Given the description of an element on the screen output the (x, y) to click on. 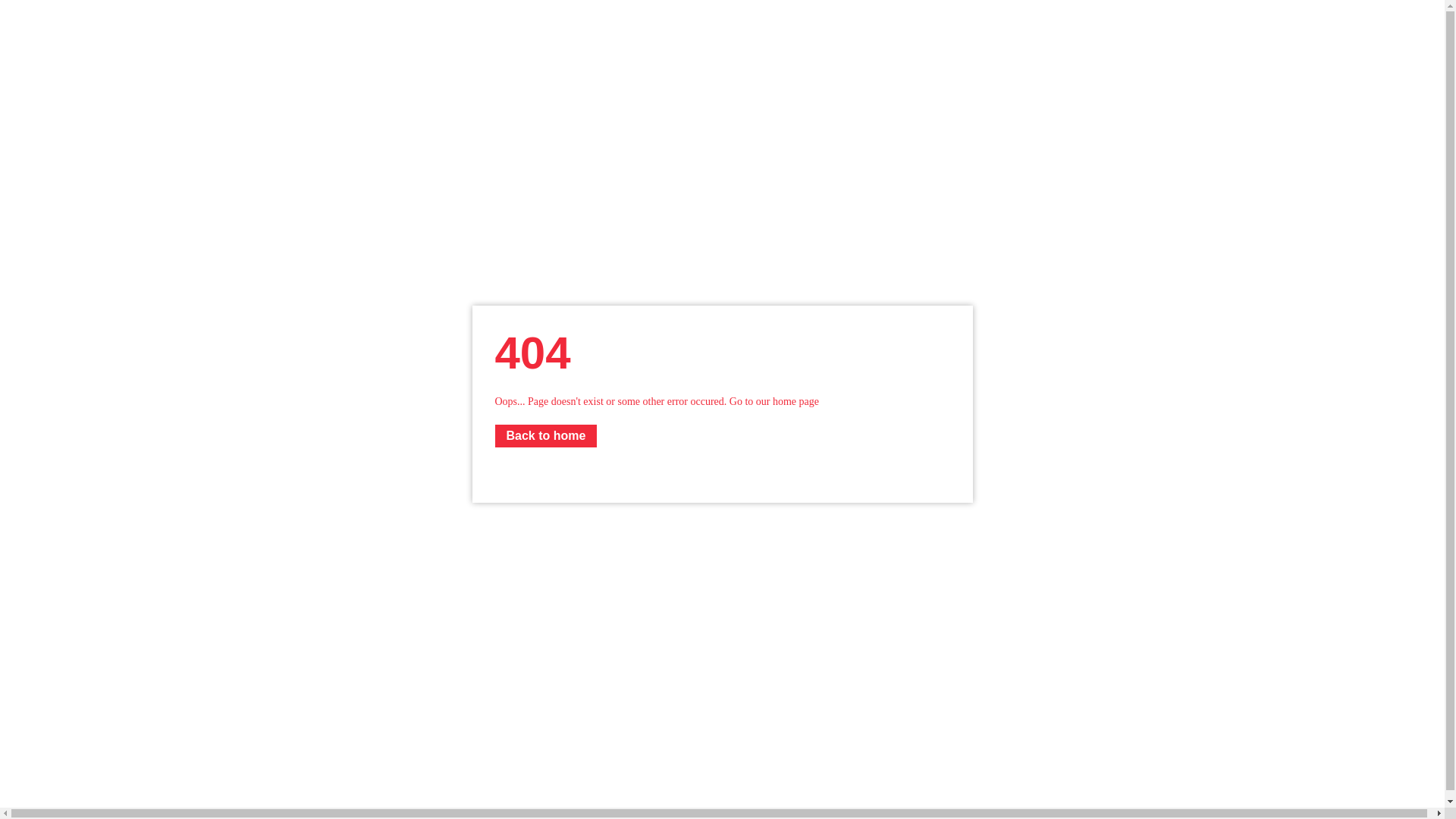
Back to home Element type: text (545, 435)
